Given the description of an element on the screen output the (x, y) to click on. 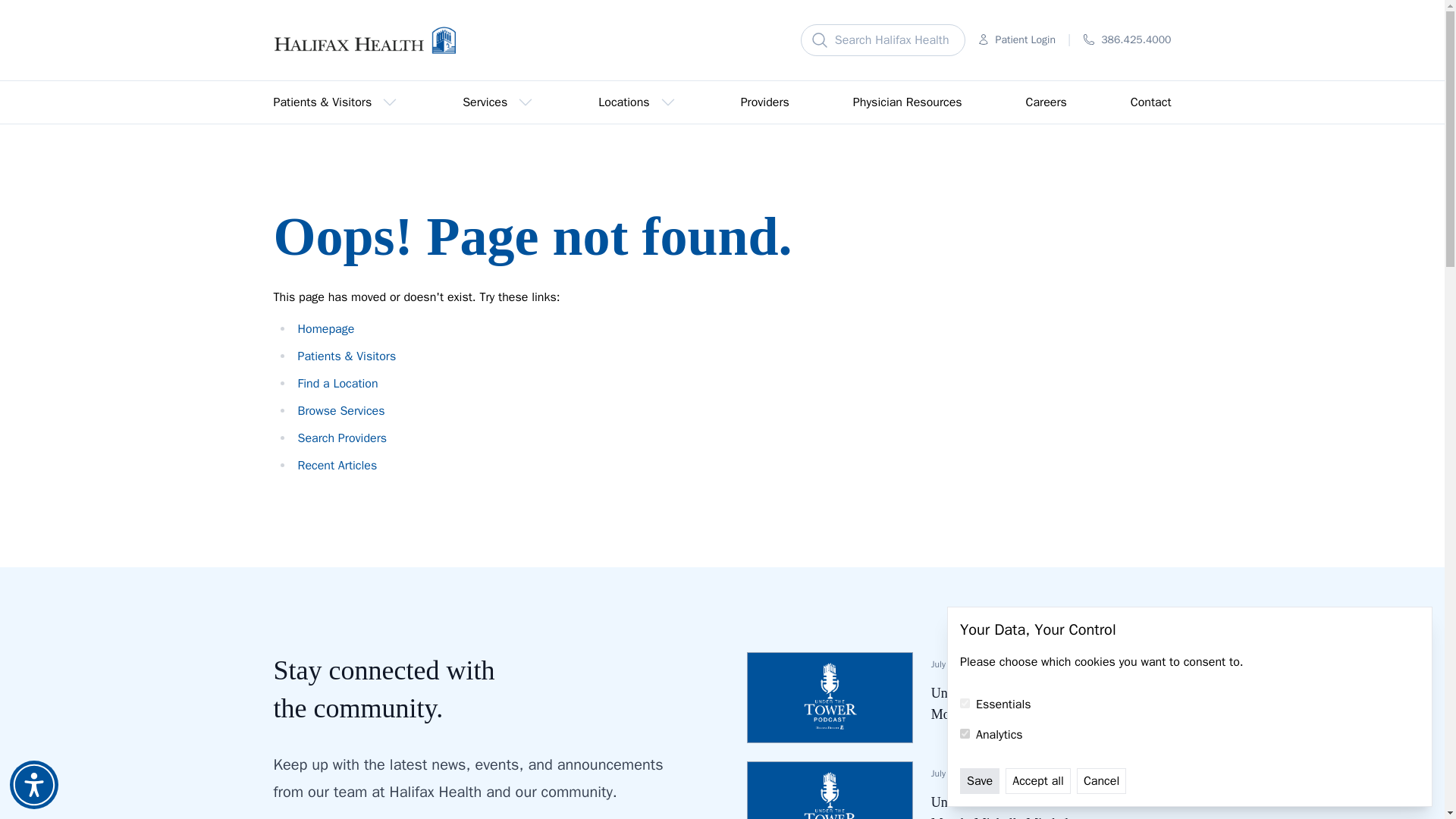
Under the Tower: Team Member of the Month, Shannon Hoffman (1051, 703)
Contact (1150, 102)
essentials (964, 703)
Search Halifax Health (882, 40)
Patient Login (1016, 40)
Locations (637, 102)
386.425.4000 (1126, 40)
Physician Resources (907, 102)
Accessibility Menu (34, 784)
analytics (964, 733)
Services (498, 102)
Homepage (325, 328)
Under the Tower: Team Member of the Month, Michelle Mitchel (1051, 805)
Careers (1046, 102)
Providers (764, 102)
